Given the description of an element on the screen output the (x, y) to click on. 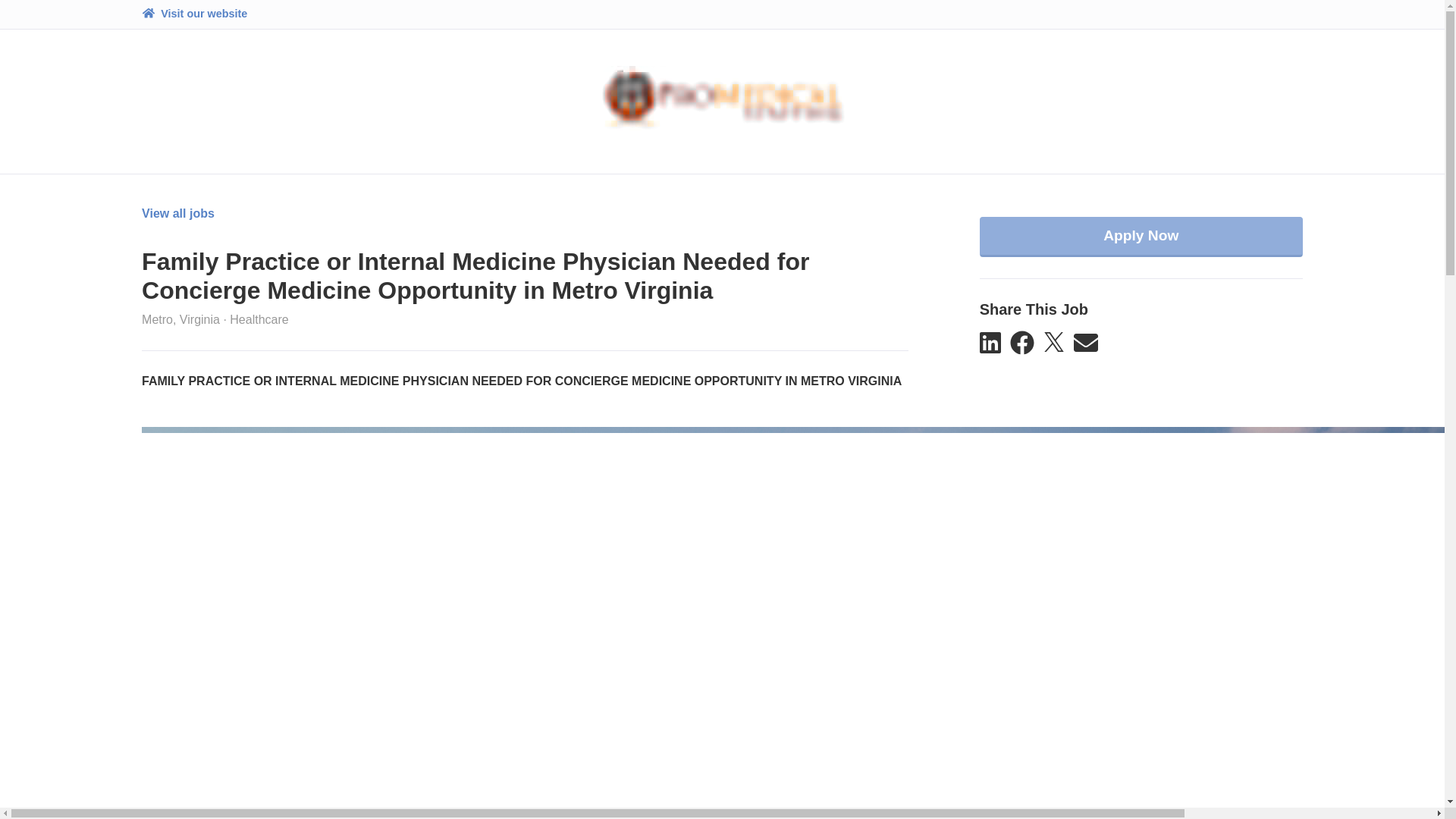
Apply Now (1141, 237)
Visit our website (194, 13)
View all jobs (177, 213)
